Given the description of an element on the screen output the (x, y) to click on. 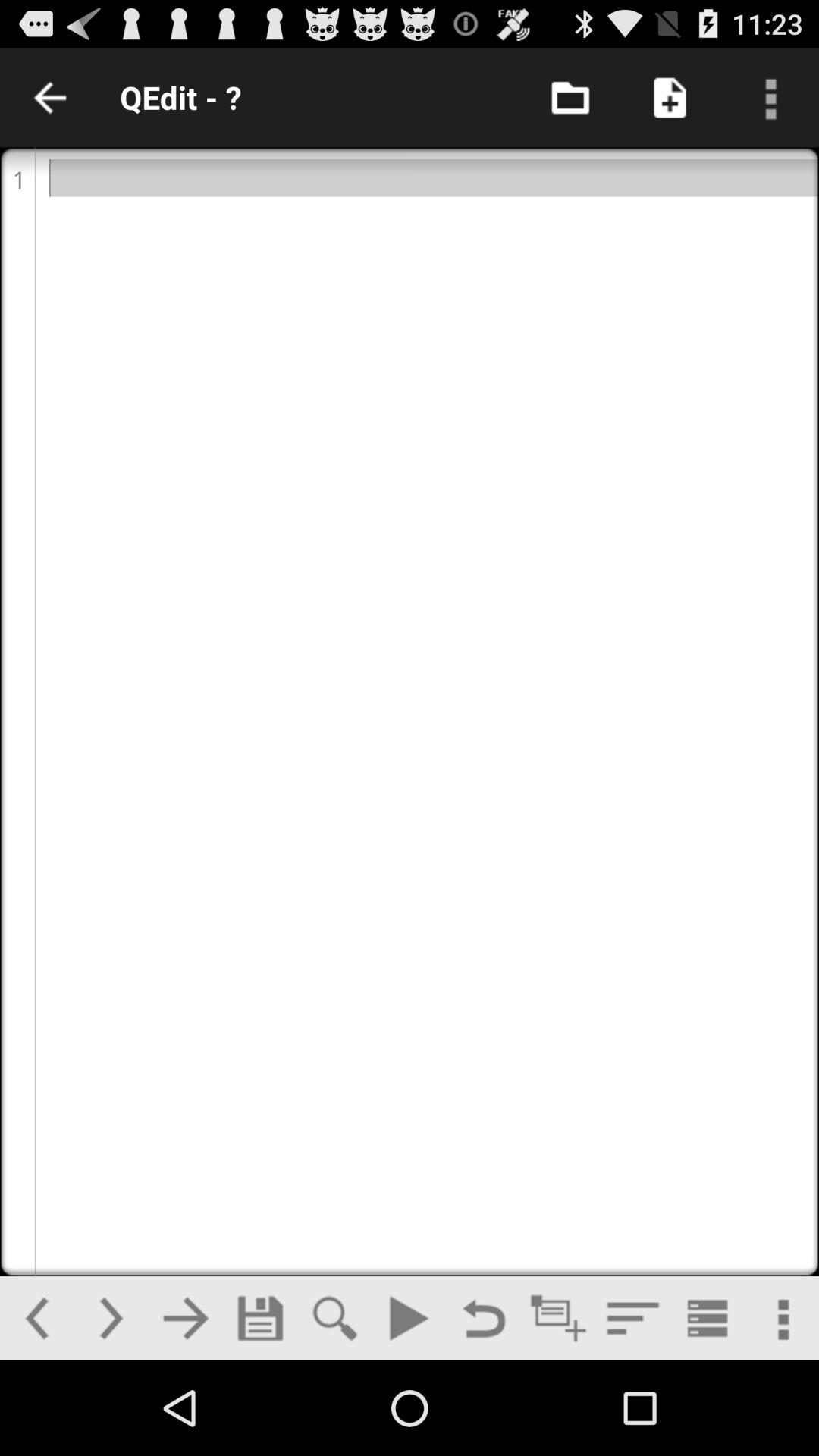
save (259, 1318)
